Given the description of an element on the screen output the (x, y) to click on. 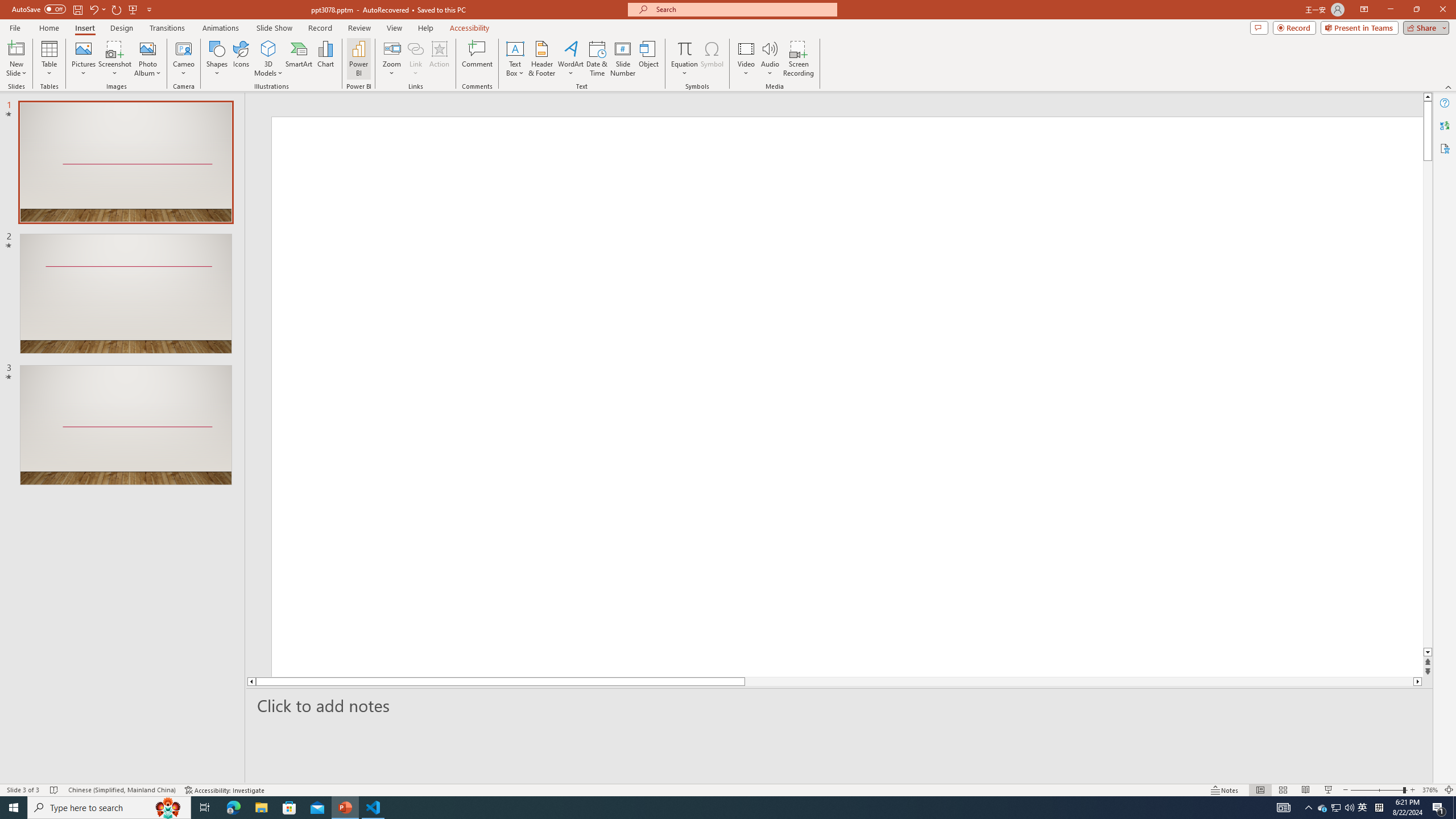
Photo Album... (147, 58)
Header & Footer... (541, 58)
Text Box (515, 58)
Power BI (358, 58)
Shapes (216, 58)
Action (439, 58)
Pictures (83, 58)
